Given the description of an element on the screen output the (x, y) to click on. 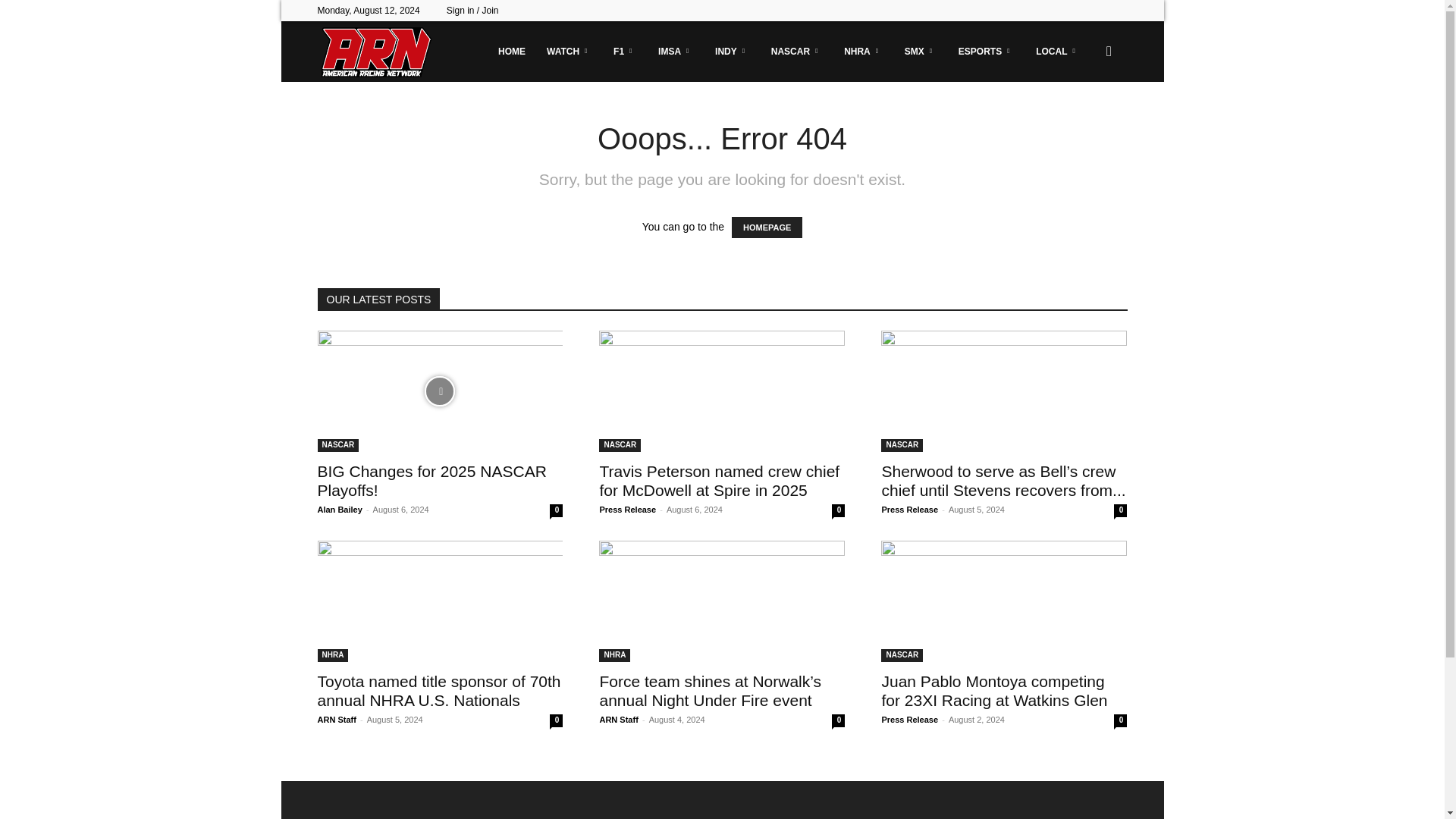
ARN (375, 51)
Search (1085, 124)
WATCH (568, 51)
